Given the description of an element on the screen output the (x, y) to click on. 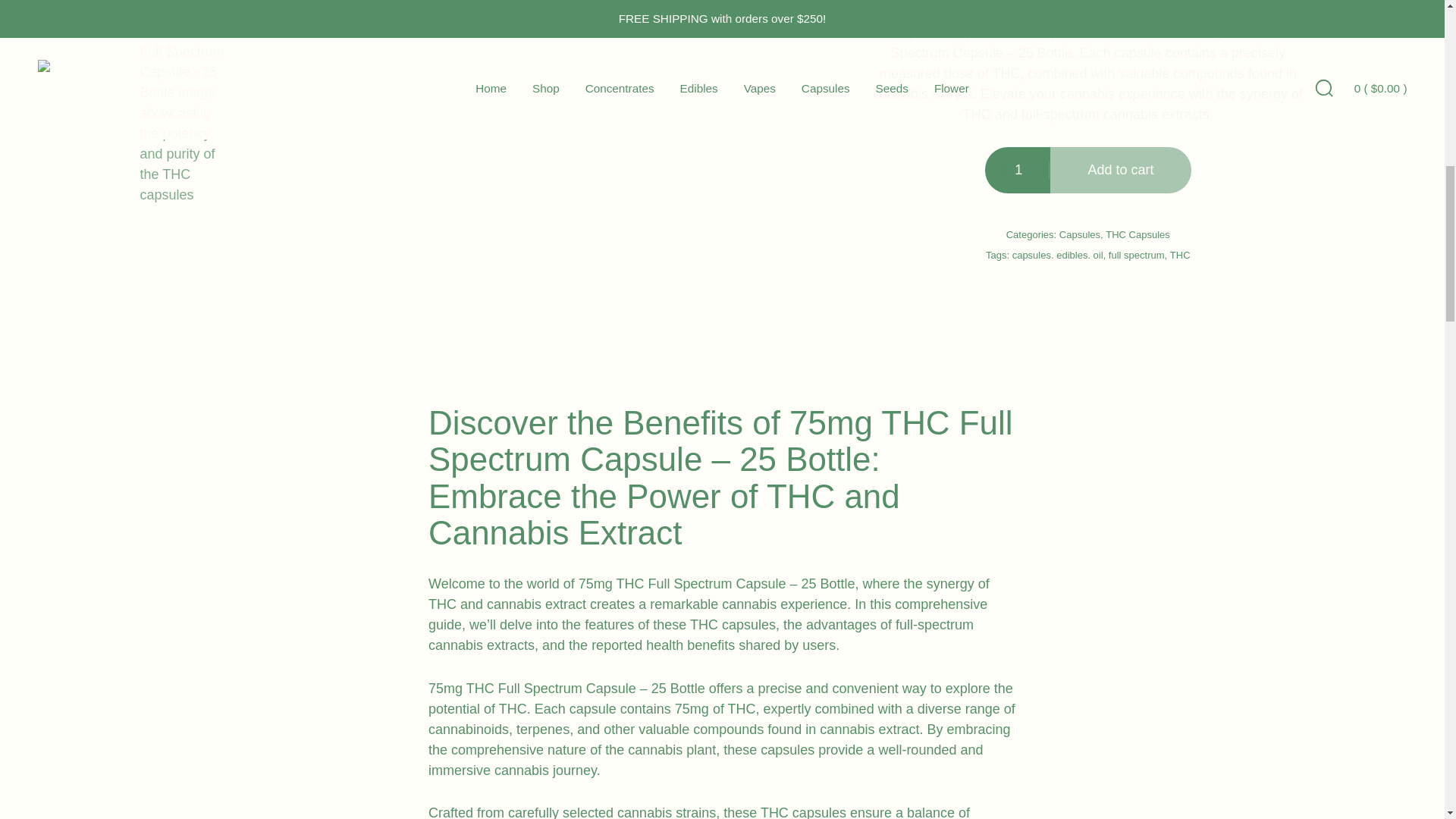
Capsules (1079, 234)
THC (1180, 255)
Add to cart (1120, 170)
THC Capsules (1137, 234)
1 (1024, 170)
capsules. edibles. oil (1057, 255)
full spectrum (1136, 255)
